Given the description of an element on the screen output the (x, y) to click on. 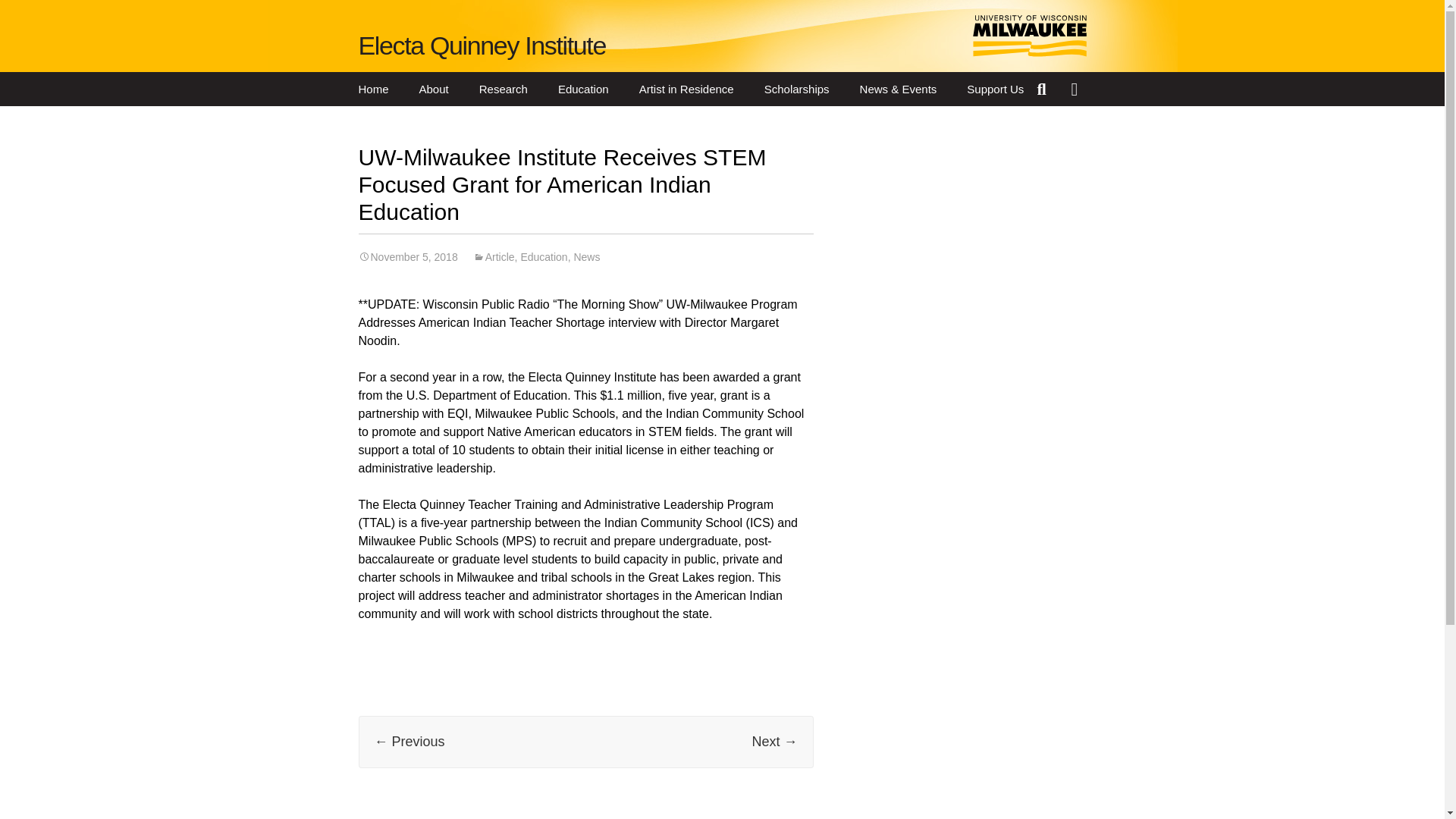
Electa Quinney Institute (481, 45)
Search (1043, 89)
Electa Quinney Institute (481, 45)
UWM Menu (1078, 89)
Home (372, 89)
About (434, 89)
